Given the description of an element on the screen output the (x, y) to click on. 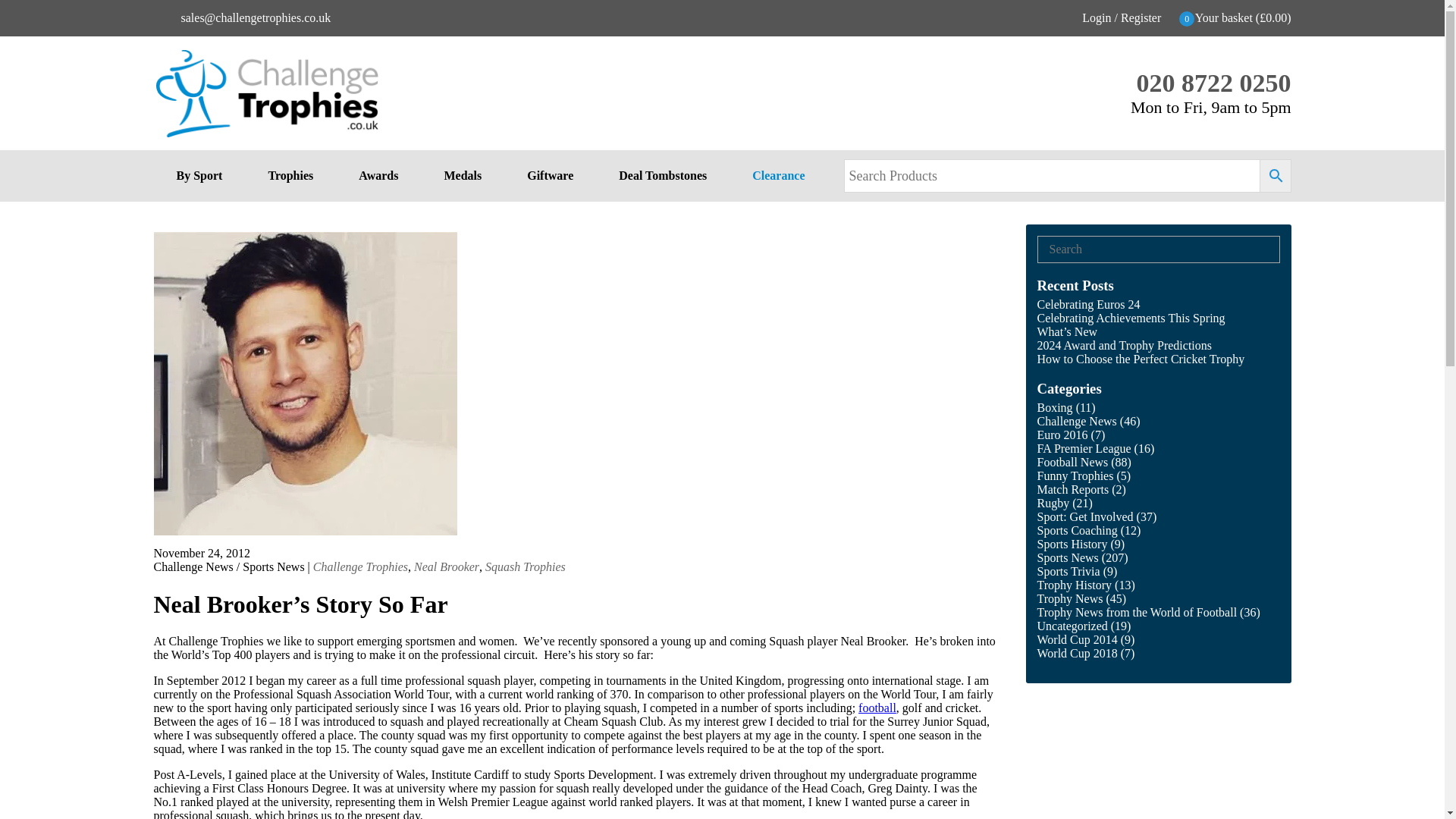
Celebrating Euros 24 (1088, 304)
Clearance (778, 175)
Giftware (549, 175)
Squash Trophies (525, 566)
View your shopping cart (1236, 18)
Football Trophies (877, 707)
Neal Brooker (446, 566)
Trophies (290, 175)
Deal Tombstones (662, 175)
football (877, 707)
Challenge News (1076, 420)
Celebrating Achievements This Spring (1130, 318)
Search for: (1151, 249)
Awards (378, 175)
Challenge News (192, 566)
